Given the description of an element on the screen output the (x, y) to click on. 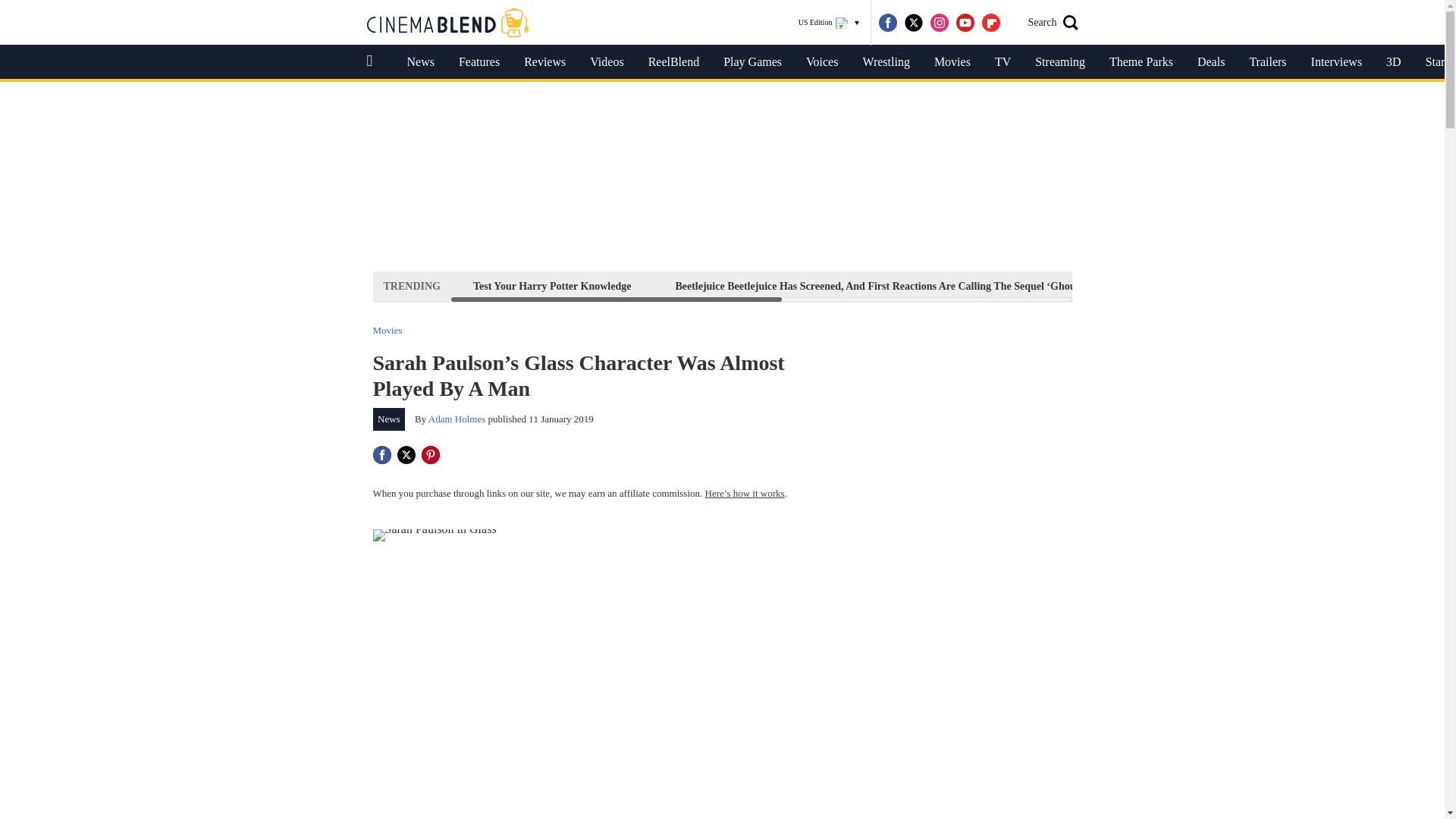
ReelBlend (673, 61)
Movies (951, 61)
Videos (606, 61)
Movies (387, 329)
Trailers (1267, 61)
Streaming (1060, 61)
News (419, 61)
Wrestling (885, 61)
3D (1393, 61)
Reviews (545, 61)
